Given the description of an element on the screen output the (x, y) to click on. 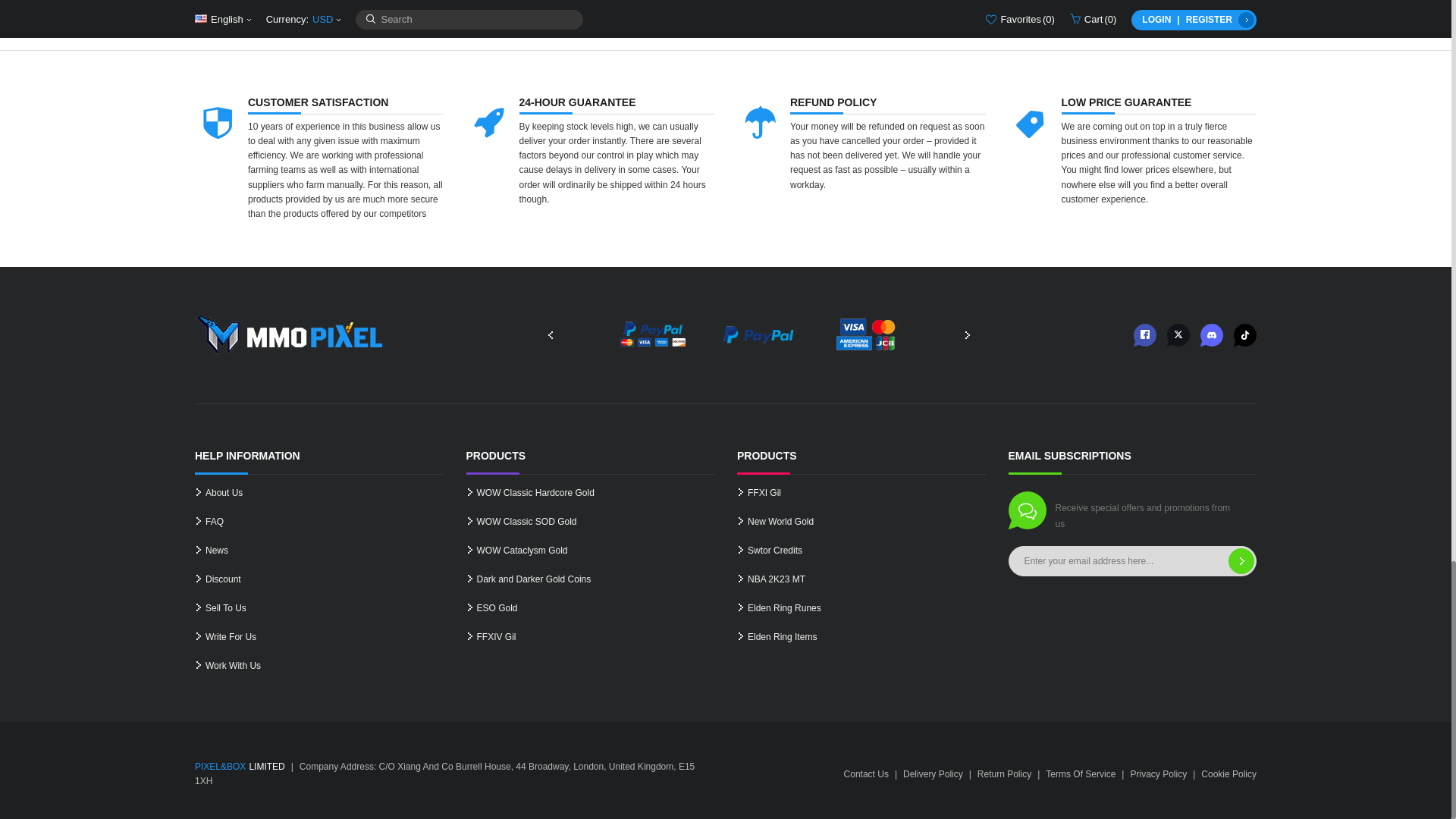
SUBMIT COMMENT (898, 13)
